Given the description of an element on the screen output the (x, y) to click on. 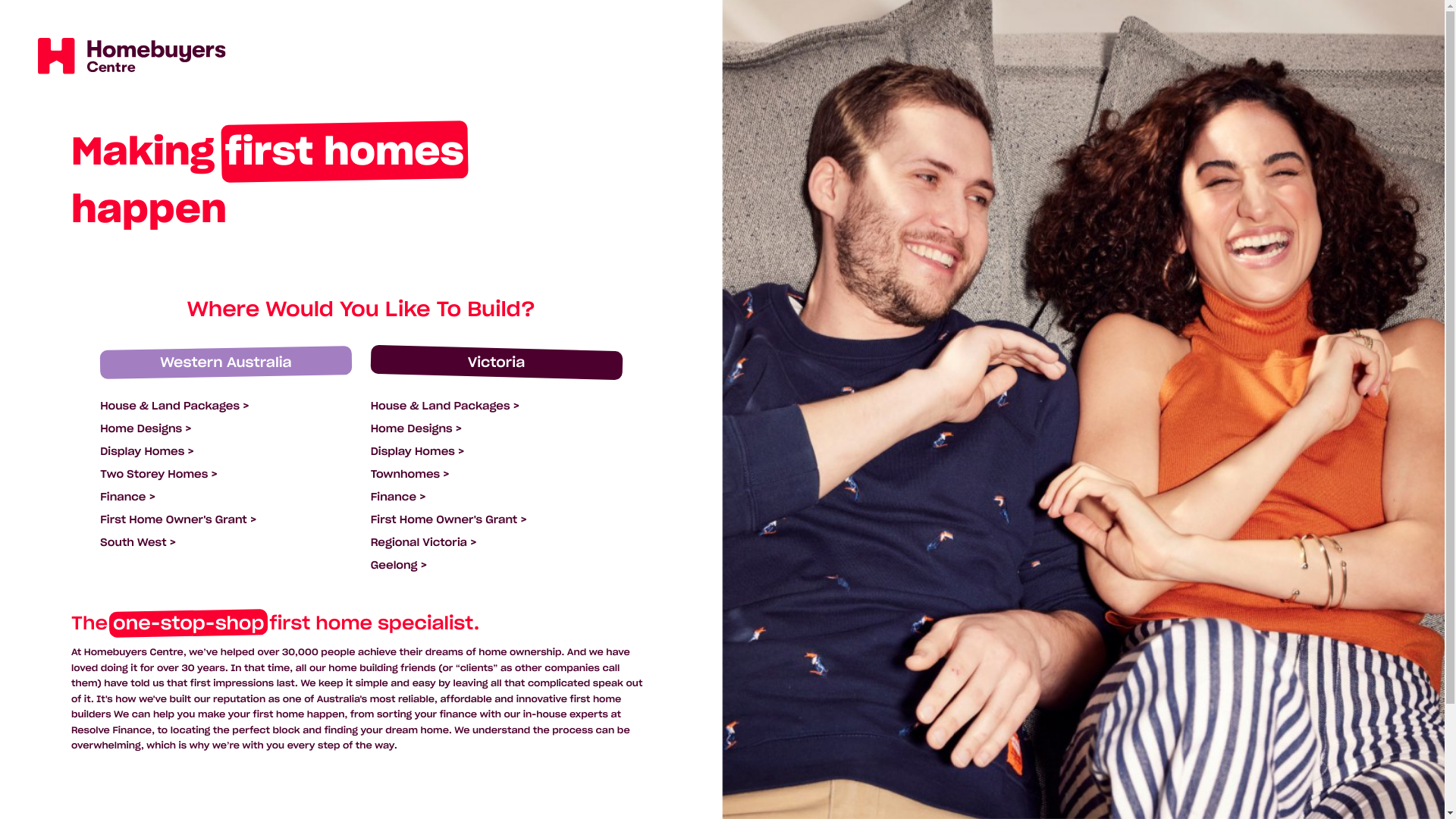
First Home Owner's Grant > Element type: text (178, 519)
Western Australia Element type: text (225, 362)
Two Storey Homes > Element type: text (158, 473)
Townhomes > Element type: text (409, 473)
Geelong > Element type: text (398, 564)
First Home Owner's Grant > Element type: text (448, 519)
Regional Victoria > Element type: text (423, 542)
House & Land Packages > Element type: text (174, 405)
Victoria Element type: text (496, 362)
Home Designs > Element type: text (415, 428)
Home Designs > Element type: text (145, 428)
Display Homes > Element type: text (417, 451)
Display Homes > Element type: text (147, 451)
South West > Element type: text (137, 542)
Finance > Element type: text (398, 496)
House & Land Packages > Element type: text (444, 405)
Finance > Element type: text (127, 496)
